Given the description of an element on the screen output the (x, y) to click on. 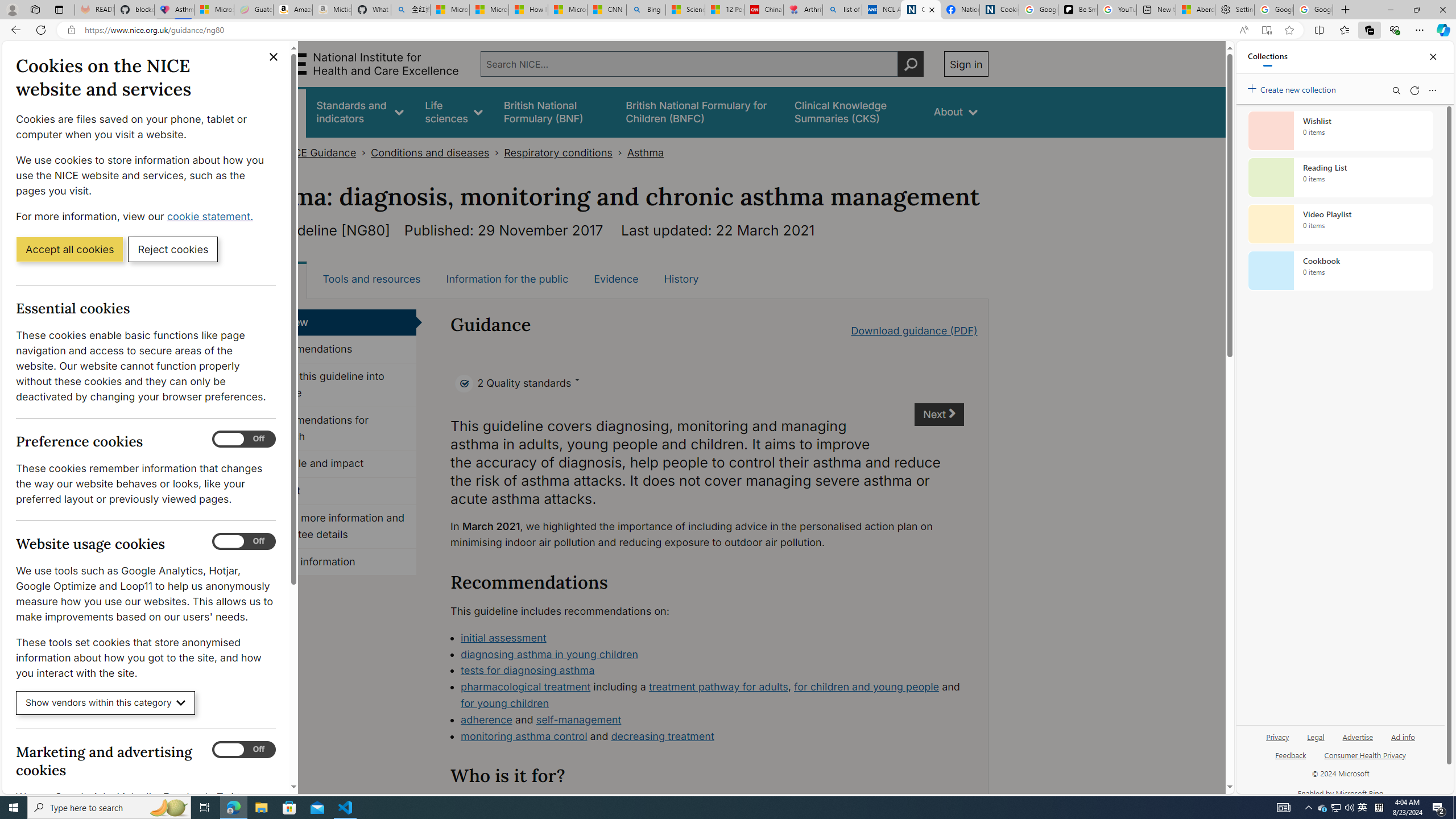
Preference cookies (243, 438)
Perform search (909, 63)
Putting this guideline into practice (333, 385)
diagnosing asthma in young children (711, 654)
monitoring asthma control and decreasing treatment (711, 736)
British National Formulary for Children (BNFC) (699, 111)
Information for the public (507, 279)
Close cookie banner (273, 56)
Home> (260, 152)
